Given the description of an element on the screen output the (x, y) to click on. 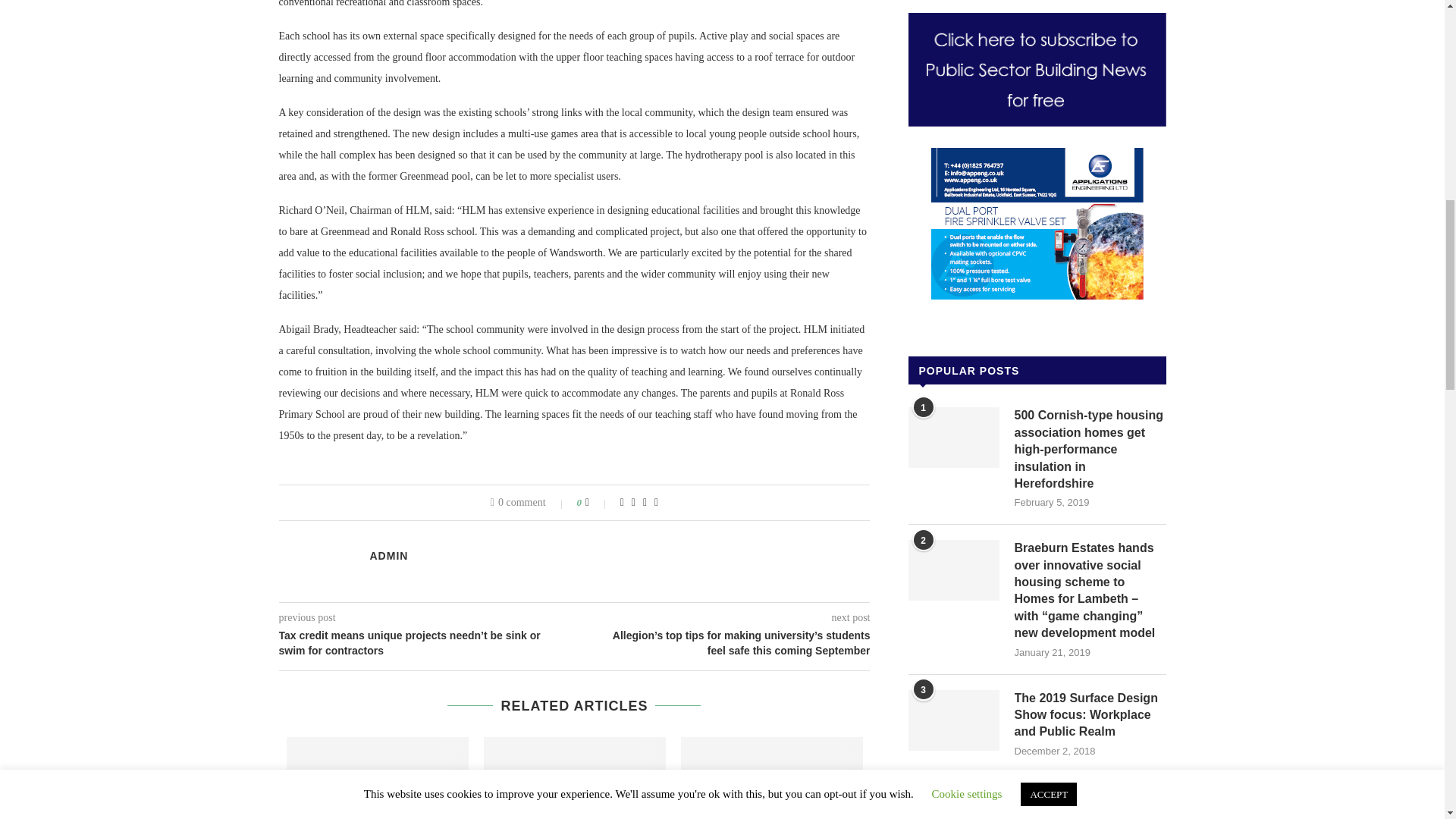
ADMIN (389, 555)
Like (597, 502)
Posts by admin (389, 555)
